Given the description of an element on the screen output the (x, y) to click on. 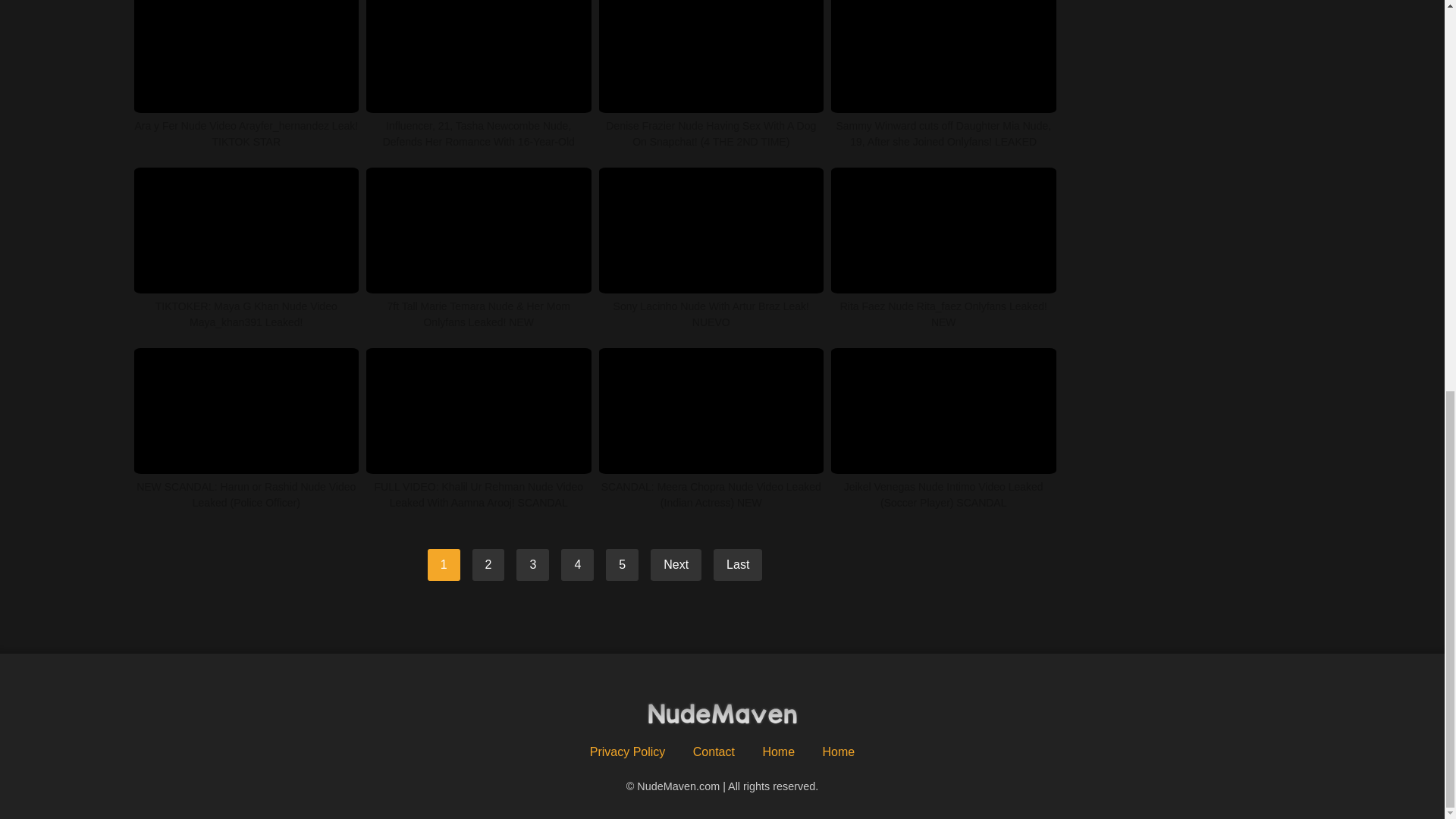
1 (444, 564)
Sony Lacinho Nude With Artur Braz Leak! NUEVO (711, 249)
